Given the description of an element on the screen output the (x, y) to click on. 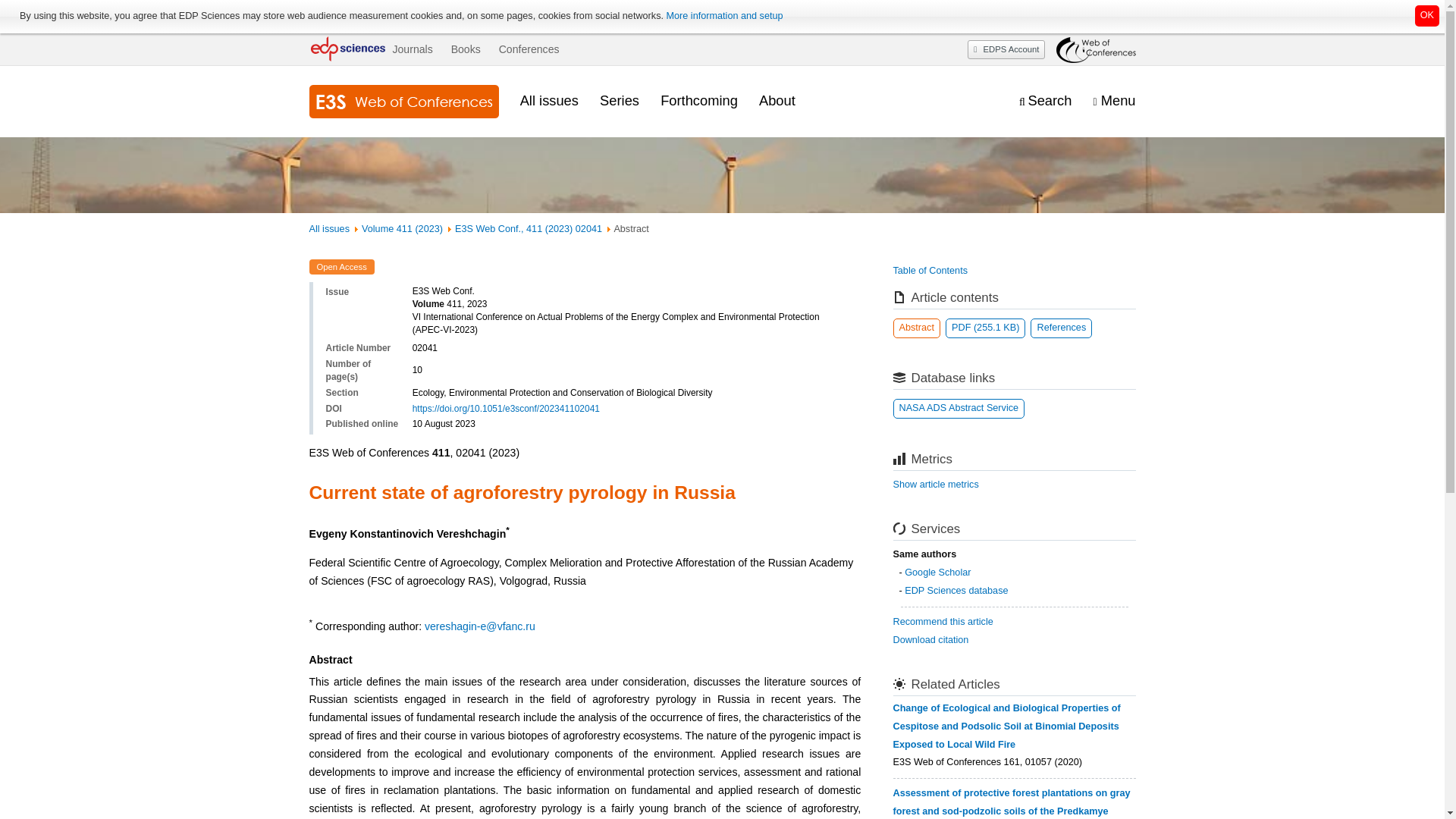
Abstract (916, 328)
Journal homepage (403, 101)
Display the search engine (1045, 101)
OK (1427, 15)
Books (465, 49)
More information and setup (724, 15)
Click to close this notification (1427, 15)
Conferences (529, 49)
Journals (411, 49)
